Given the description of an element on the screen output the (x, y) to click on. 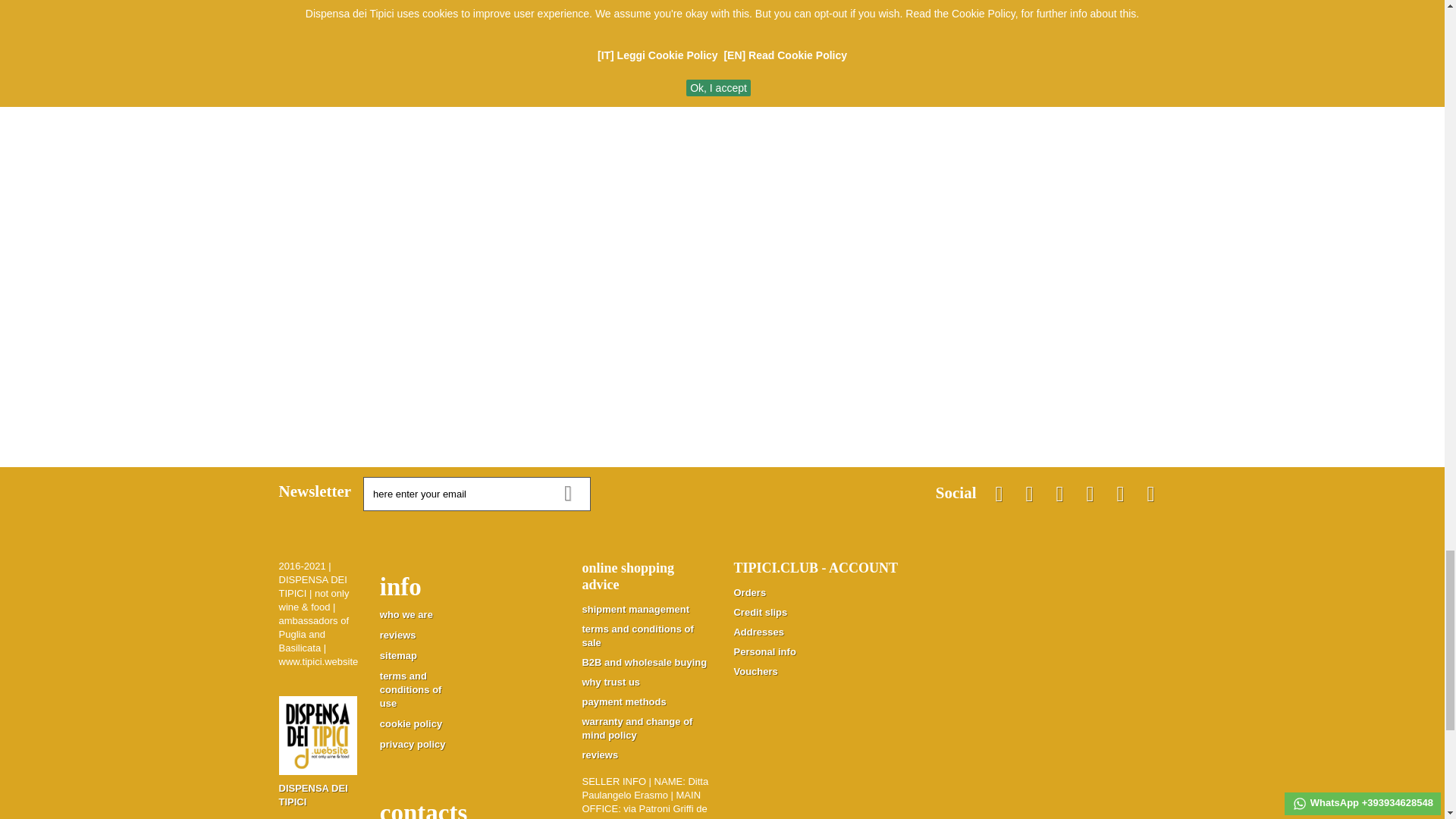
here enter your email (476, 493)
